Given the description of an element on the screen output the (x, y) to click on. 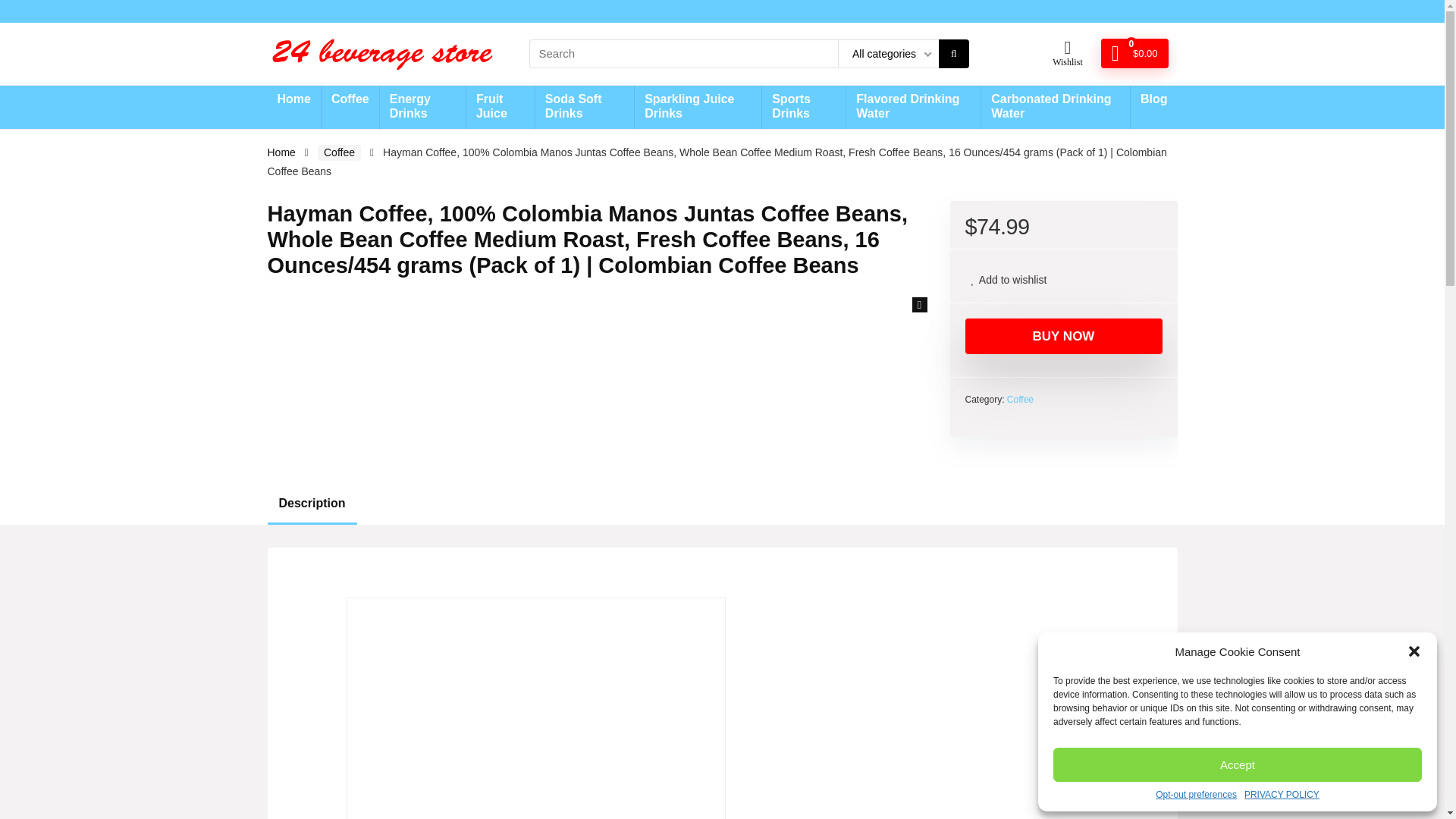
Description (721, 503)
Carbonated Drinking Water (1055, 106)
Soda Soft Drinks (584, 106)
Coffee (339, 152)
Energy Drinks (422, 106)
Sports Drinks (803, 106)
Fruit Juice (499, 106)
Home (293, 99)
Opt-out preferences (1196, 794)
Coffee (349, 99)
PRIVACY POLICY (1281, 794)
Accept (1237, 764)
Home (280, 152)
Flavored Drinking Water (912, 106)
Coffee (1020, 398)
